Given the description of an element on the screen output the (x, y) to click on. 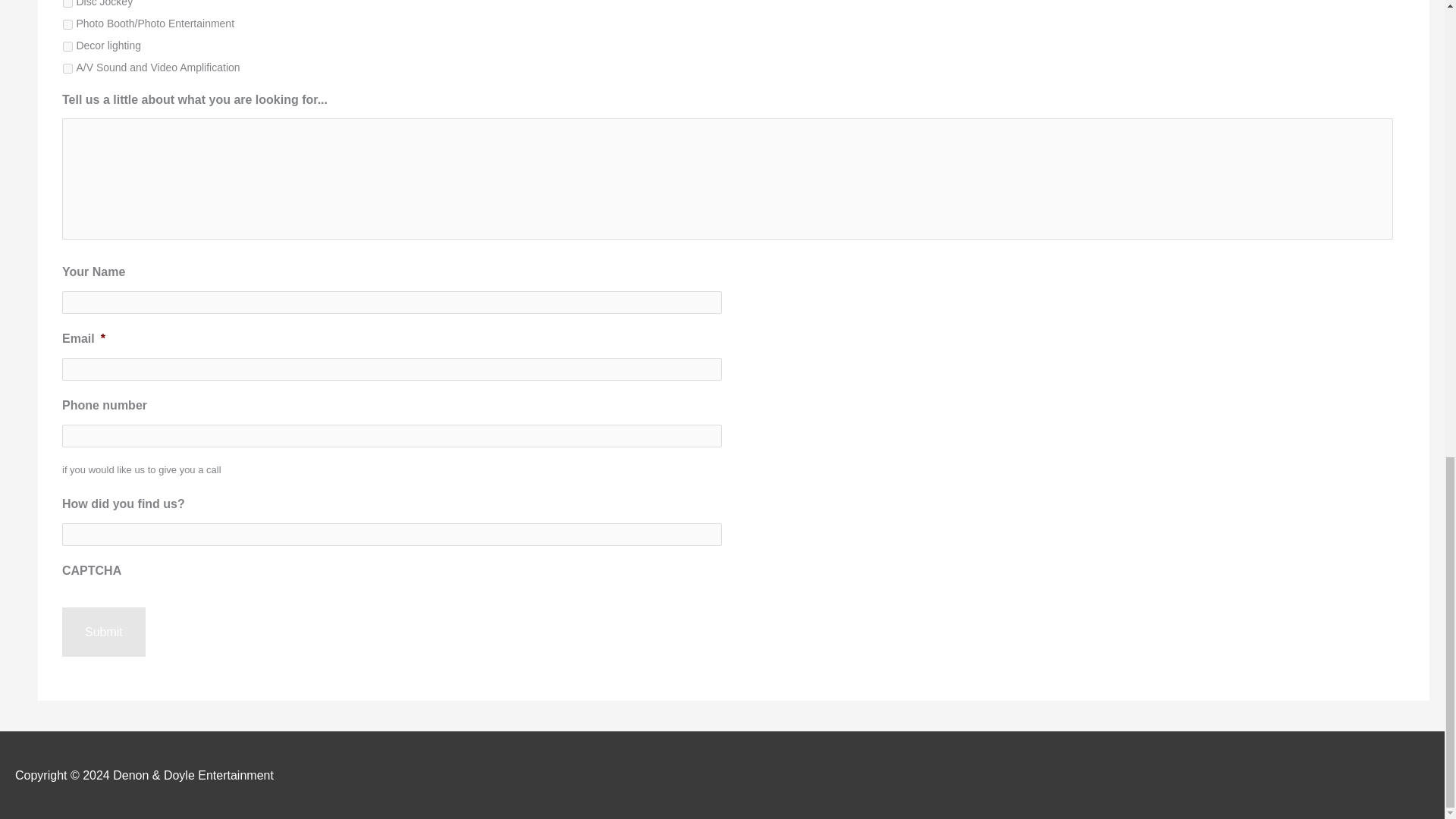
Submit (103, 632)
Disc Jockey (67, 3)
Decor lighting (67, 46)
